Given the description of an element on the screen output the (x, y) to click on. 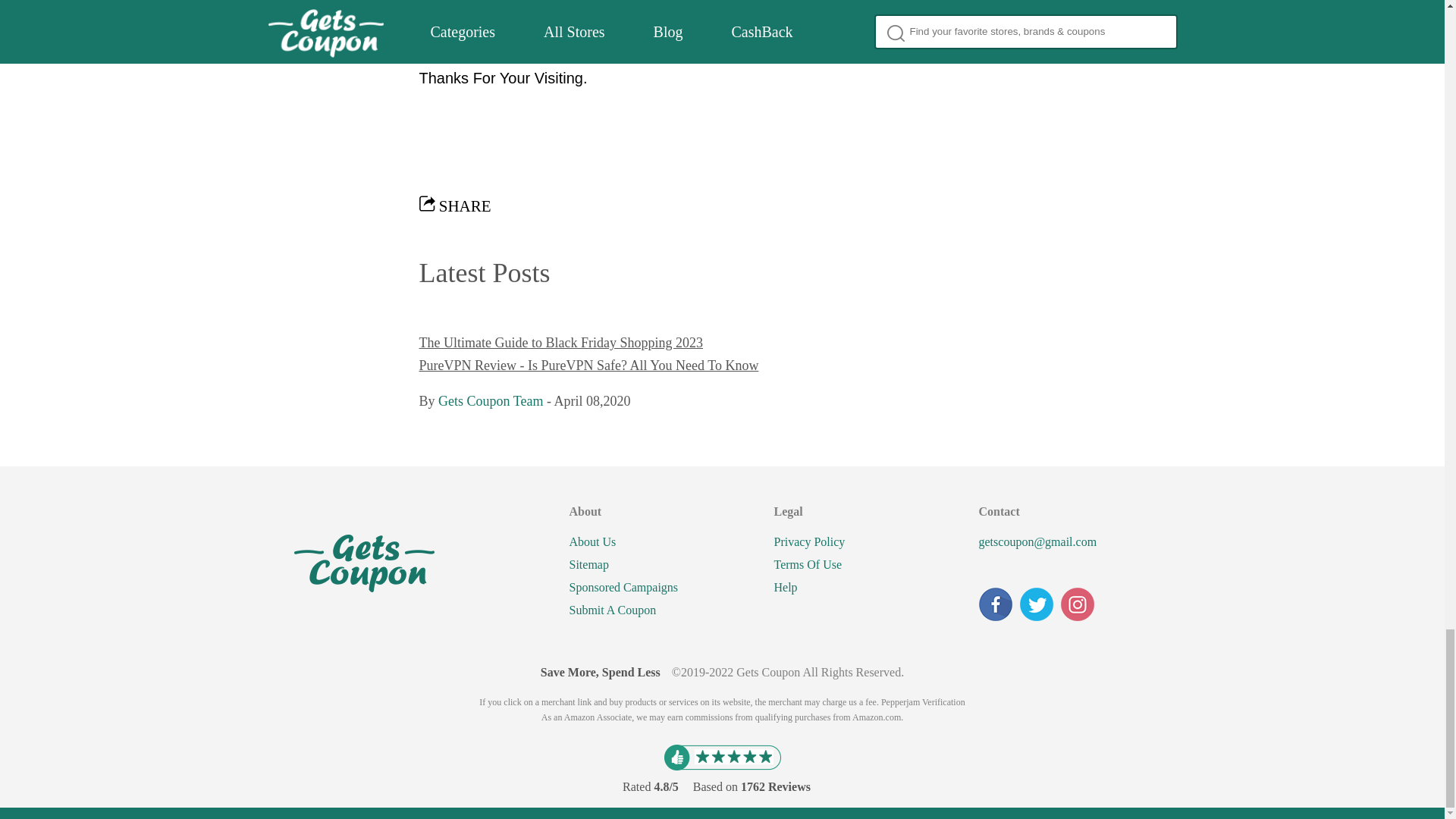
Terms Of Use (807, 564)
About Us (592, 541)
Sponsored Campaigns (623, 587)
Sitemap (588, 564)
Submit A Coupon (612, 609)
PureVPN Review - Is PureVPN Safe? All You Need To Know (588, 365)
Help (784, 587)
Privacy Policy (808, 541)
The Ultimate Guide to Black Friday Shopping 2023 (560, 342)
